Given the description of an element on the screen output the (x, y) to click on. 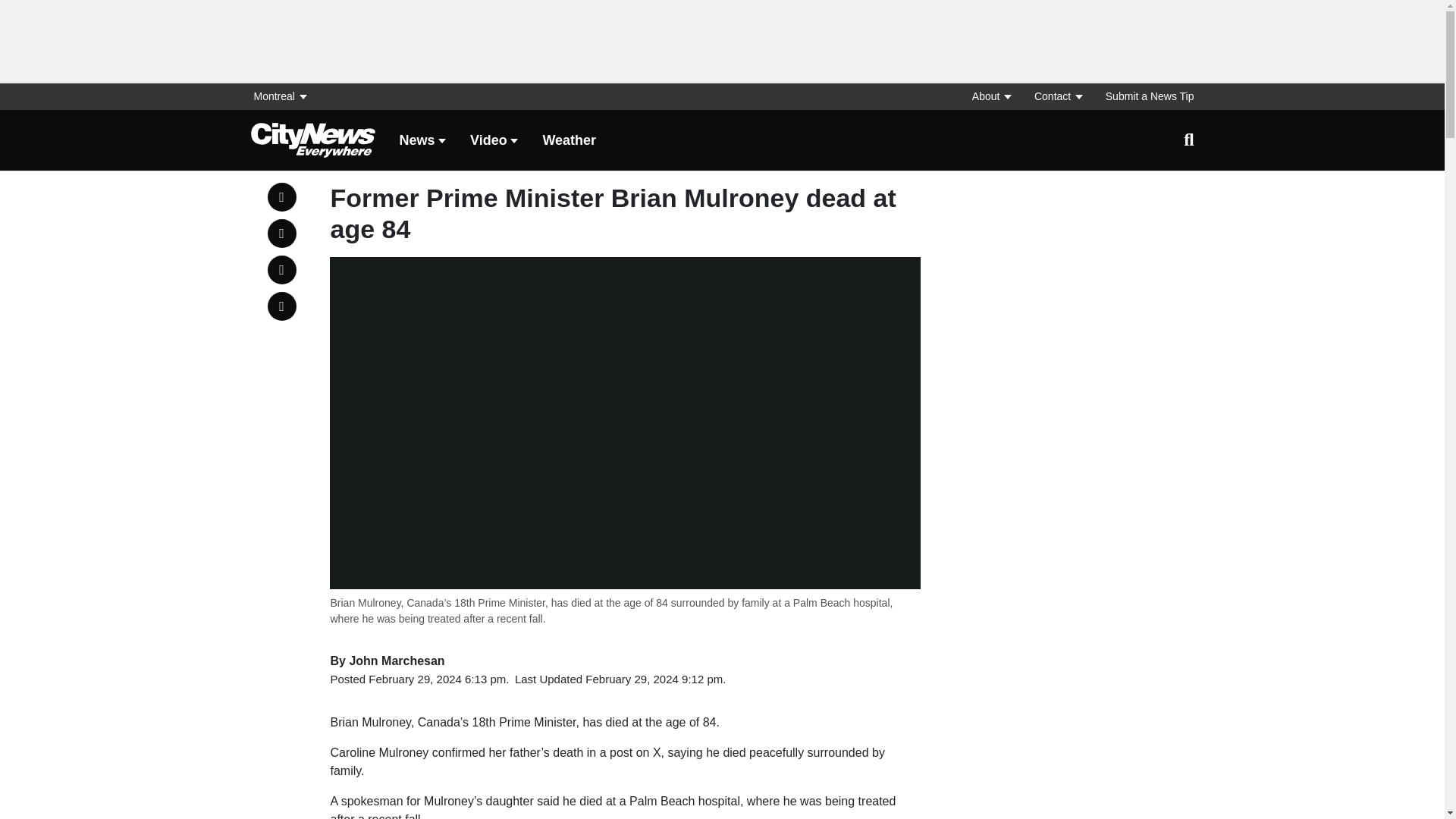
Video (494, 140)
About (990, 96)
Weather (568, 140)
Montreal (283, 96)
Contact (1057, 96)
News (421, 140)
Submit a News Tip (1143, 96)
